Given the description of an element on the screen output the (x, y) to click on. 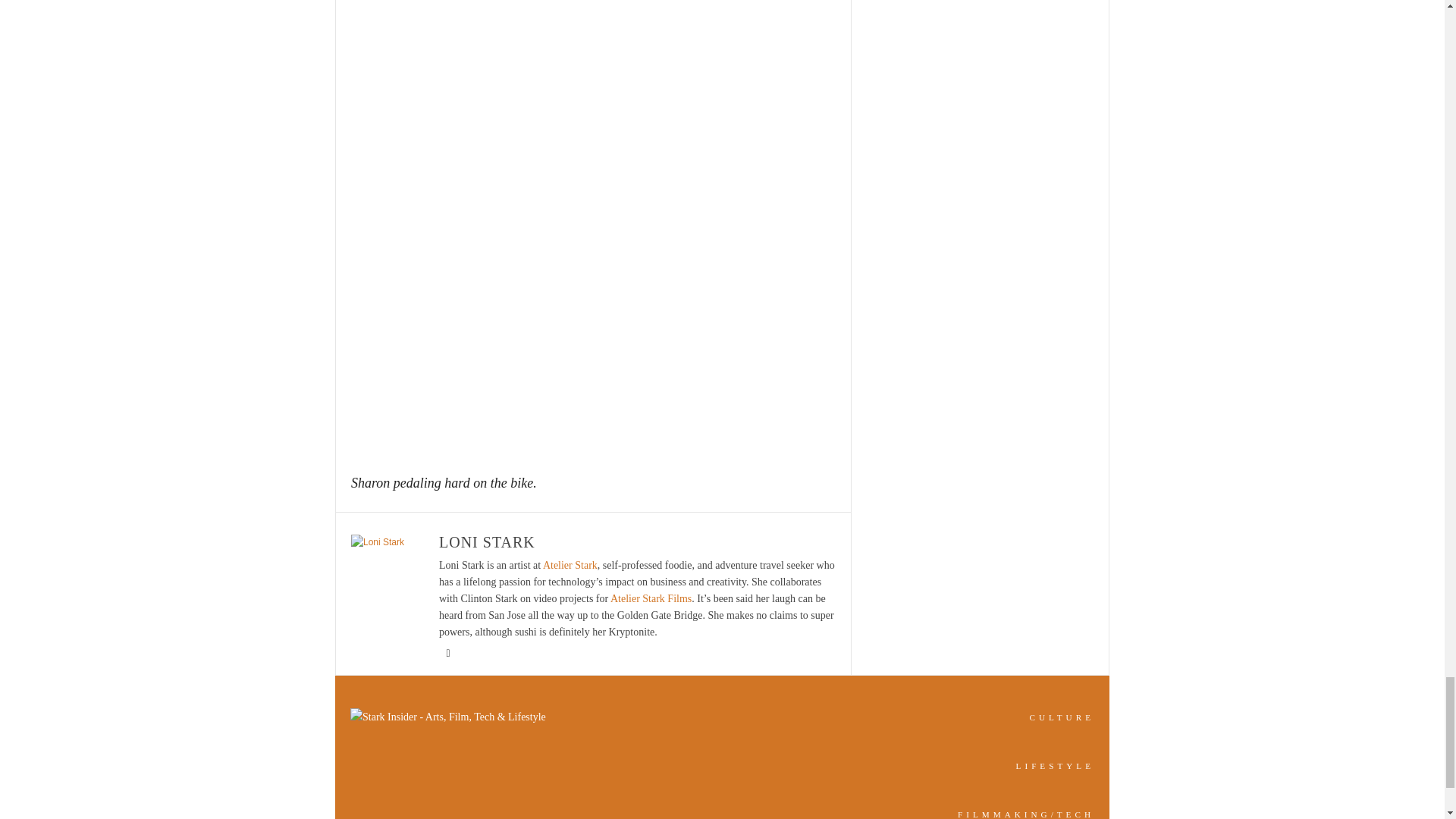
Instagram (448, 653)
LIFESTYLE (1055, 765)
LONI STARK (487, 541)
Atelier Stark Films (650, 598)
CULTURE (1061, 716)
Atelier Stark (569, 564)
